Given the description of an element on the screen output the (x, y) to click on. 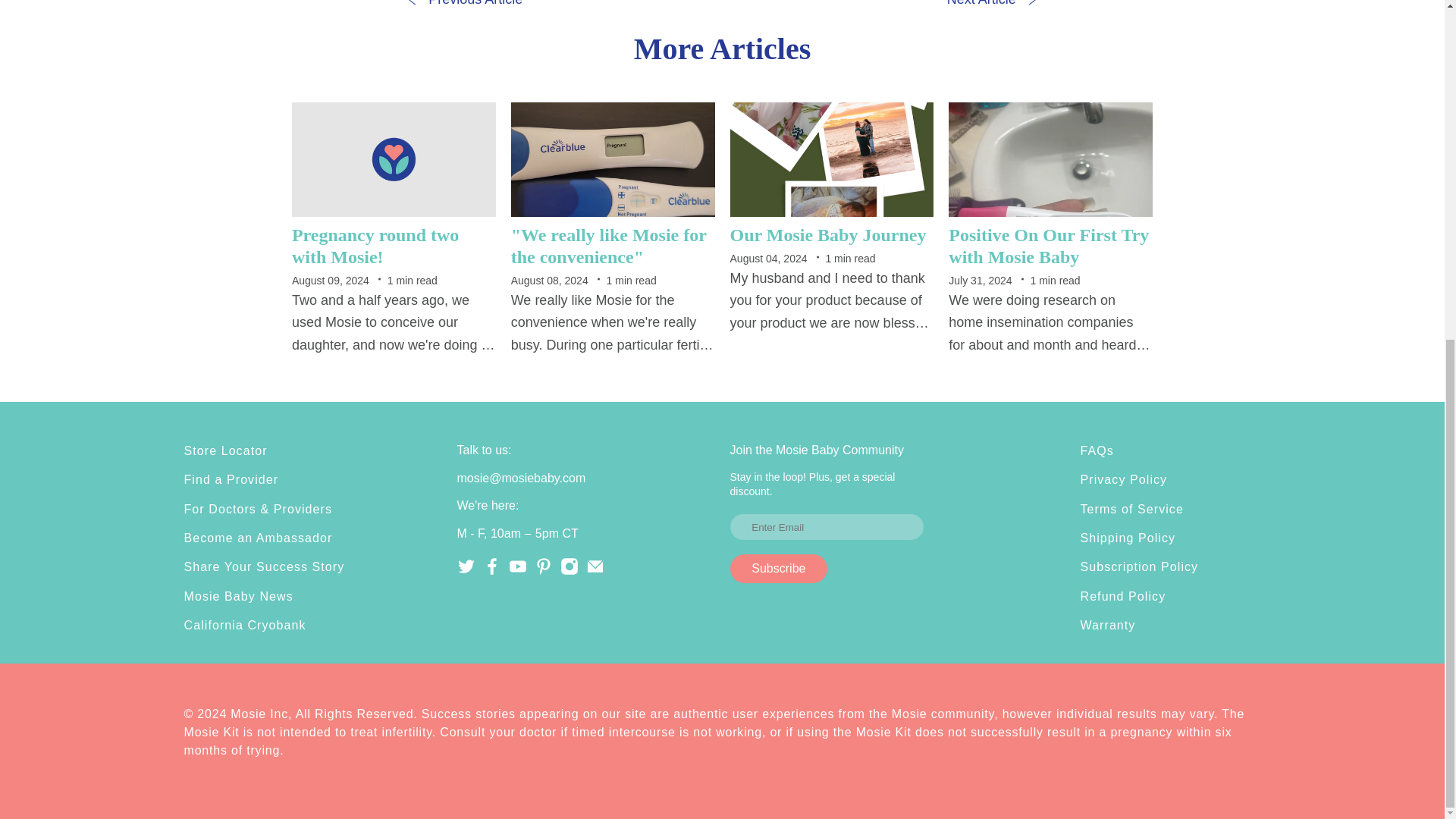
Mosie Baby on YouTube (516, 571)
Mosie Baby on Instagram (568, 571)
Next (991, 5)
Mosie Baby on Pinterest (542, 571)
Mosie Baby on Twitter (465, 571)
More Articles (722, 49)
Previous Article (464, 5)
Mosie Baby on Facebook (490, 571)
Email Mosie Baby (594, 571)
Previous (464, 5)
